Given the description of an element on the screen output the (x, y) to click on. 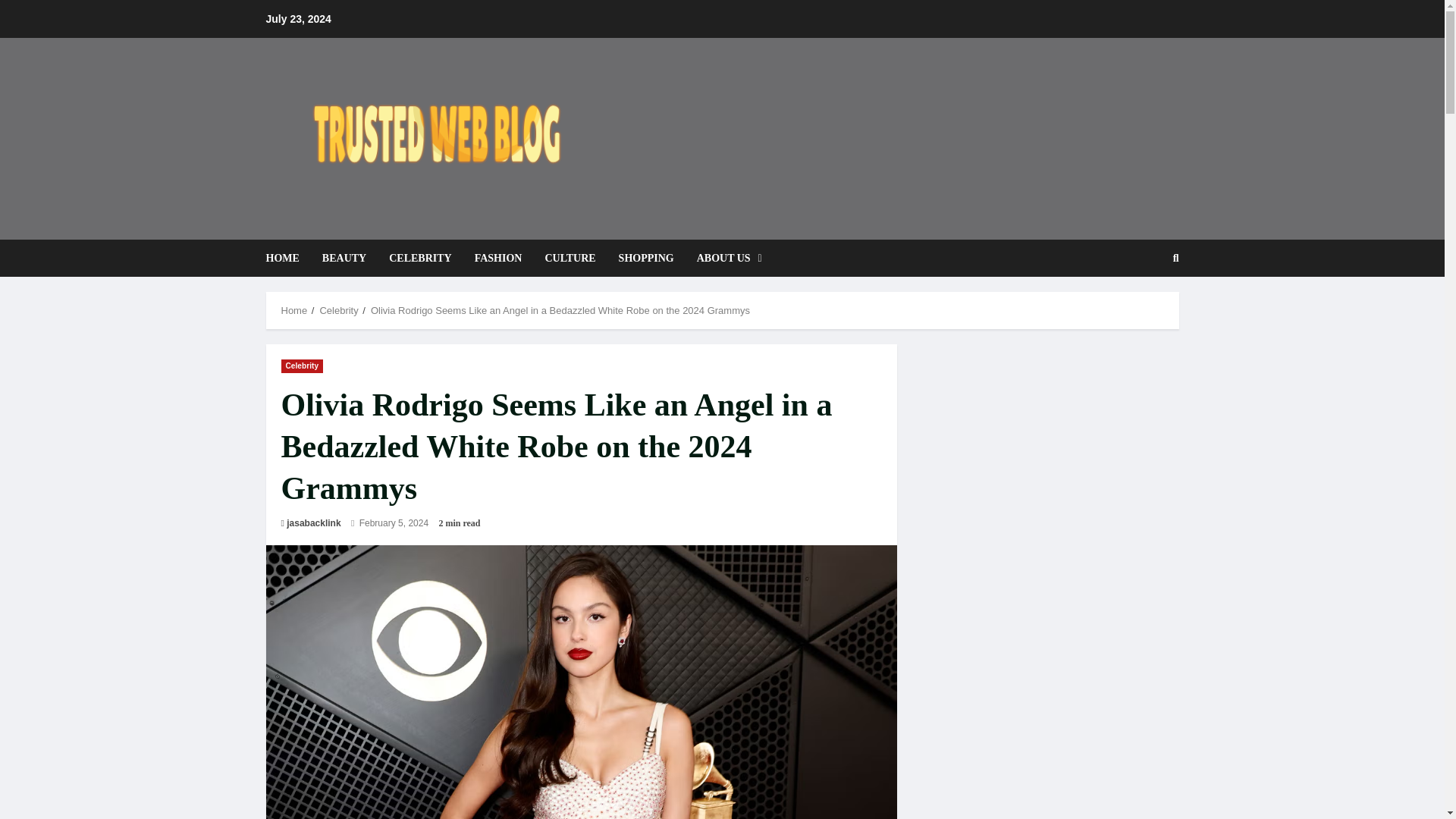
Home (294, 310)
SHOPPING (646, 257)
CELEBRITY (420, 257)
HOME (287, 257)
FASHION (498, 257)
Celebrity (338, 310)
Search (1139, 309)
CULTURE (569, 257)
ABOUT US (723, 257)
jasabacklink (313, 522)
Celebrity (302, 366)
BEAUTY (344, 257)
